Given the description of an element on the screen output the (x, y) to click on. 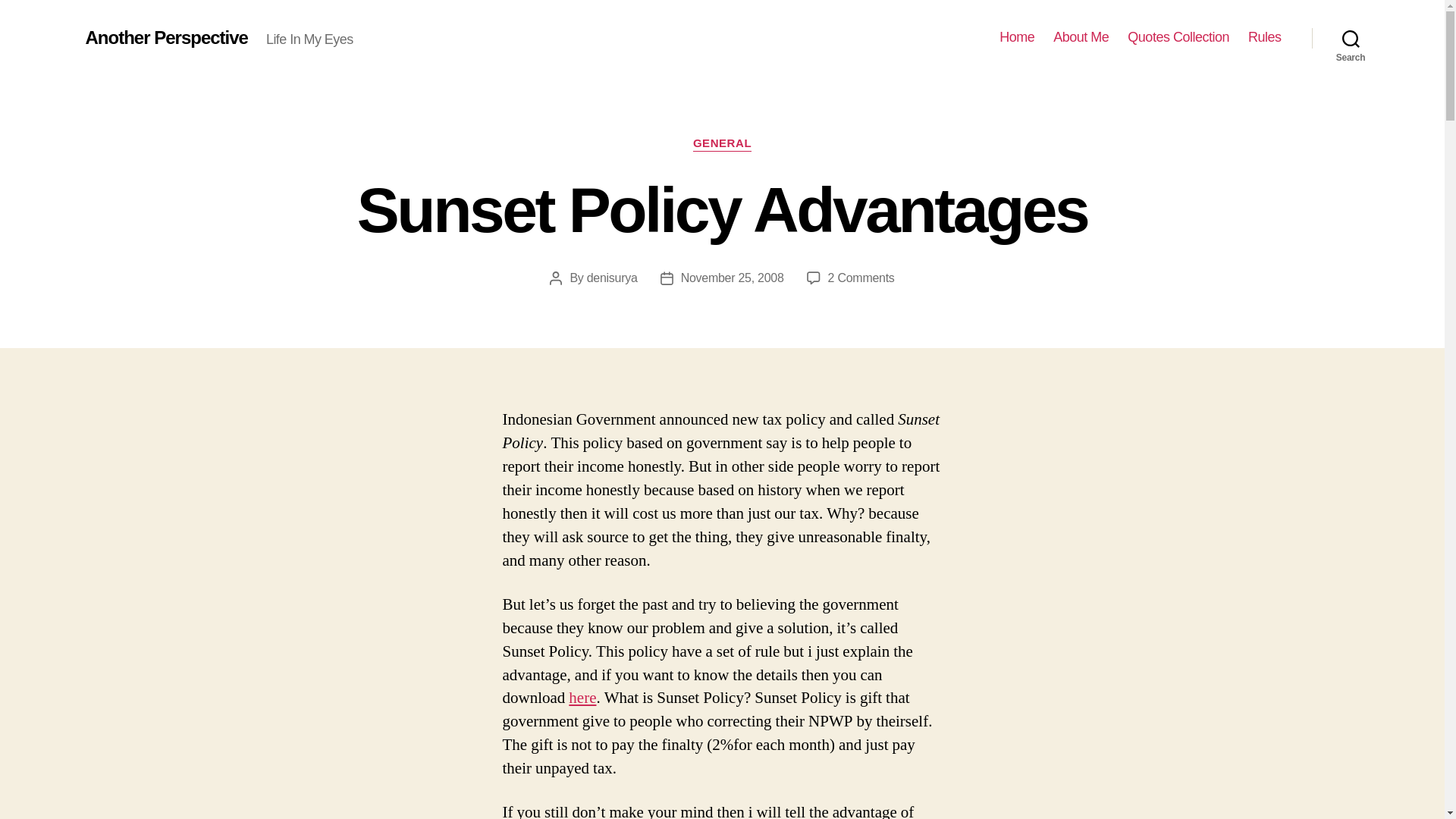
November 25, 2008 (861, 277)
here (732, 277)
Home (582, 697)
Rules (1015, 37)
About Me (1264, 37)
GENERAL (1080, 37)
Quotes Collection (722, 143)
Search (1177, 37)
denisurya (1350, 37)
